Given the description of an element on the screen output the (x, y) to click on. 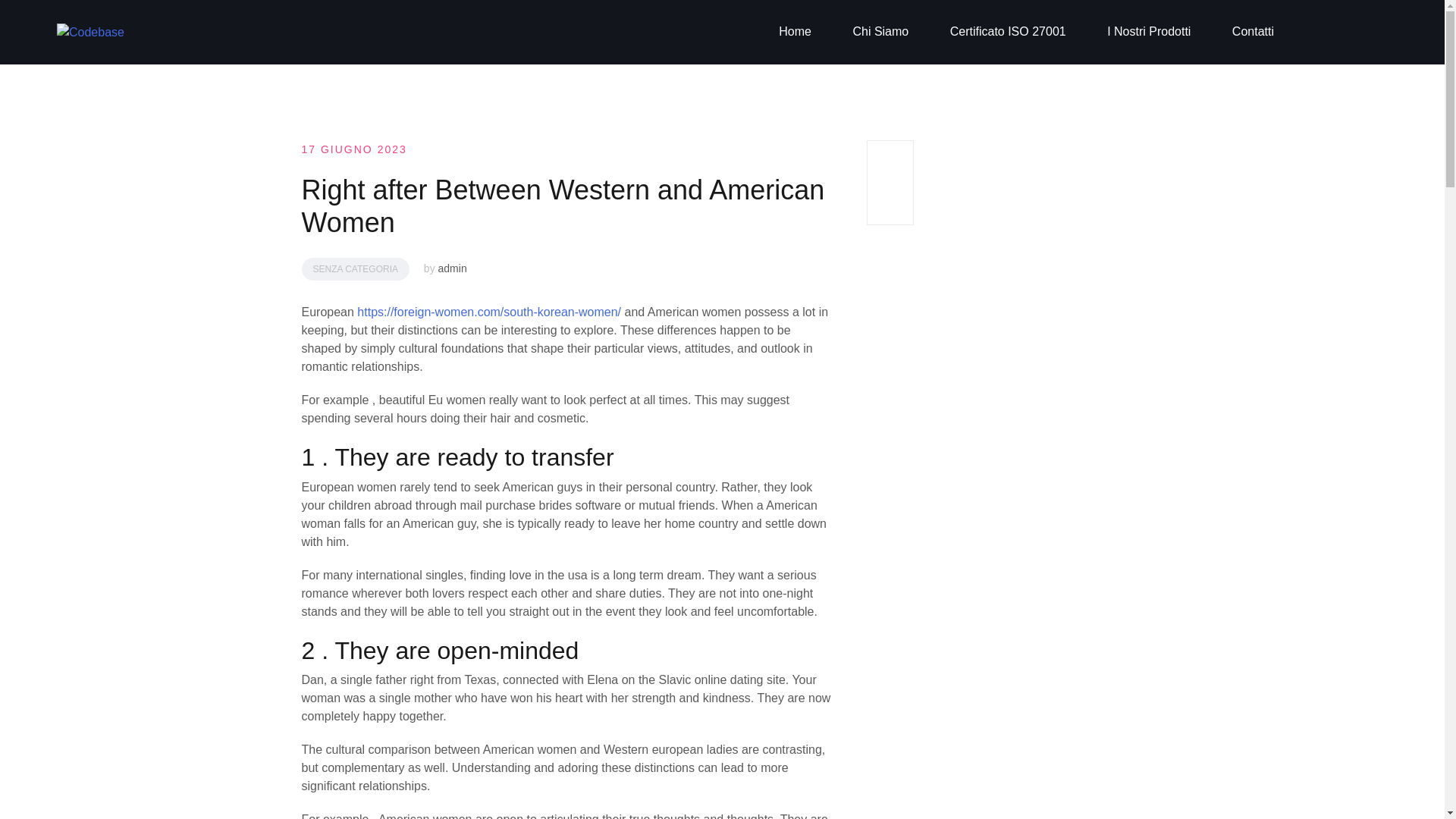
Home (794, 31)
admin (452, 268)
Contatti (1252, 31)
SENZA CATEGORIA (355, 268)
Certificato ISO 27001 (1007, 31)
17 GIUGNO 2023 (354, 149)
I Nostri Prodotti (1148, 31)
Chi Siamo (879, 31)
